Given the description of an element on the screen output the (x, y) to click on. 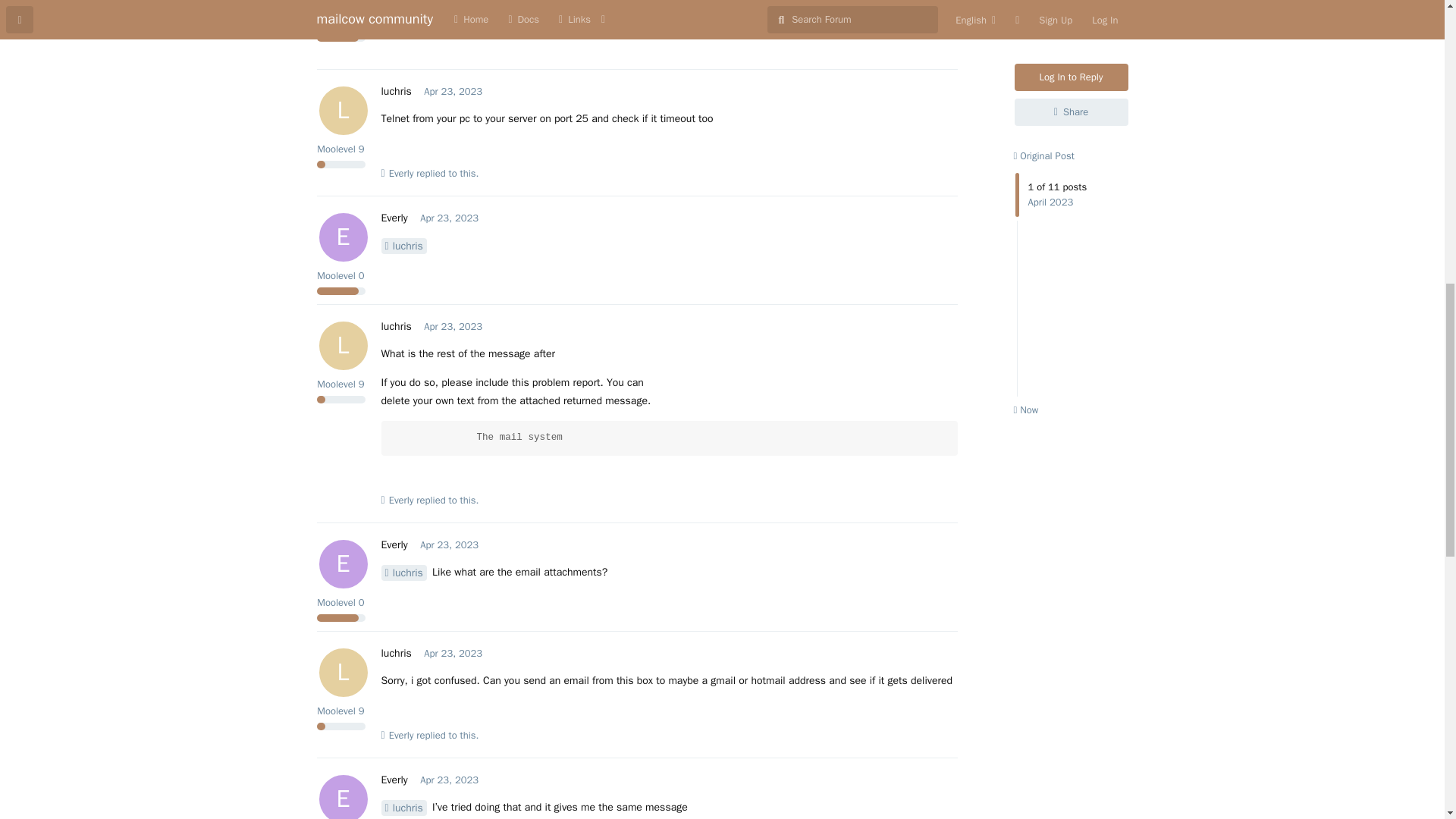
D4niel (403, 0)
Sunday, April 23, 2023 5:02 AM (449, 544)
Sunday, April 23, 2023 4:55 AM (449, 217)
Sunday, April 23, 2023 5:00 AM (452, 326)
Sunday, April 23, 2023 4:52 AM (452, 91)
